Given the description of an element on the screen output the (x, y) to click on. 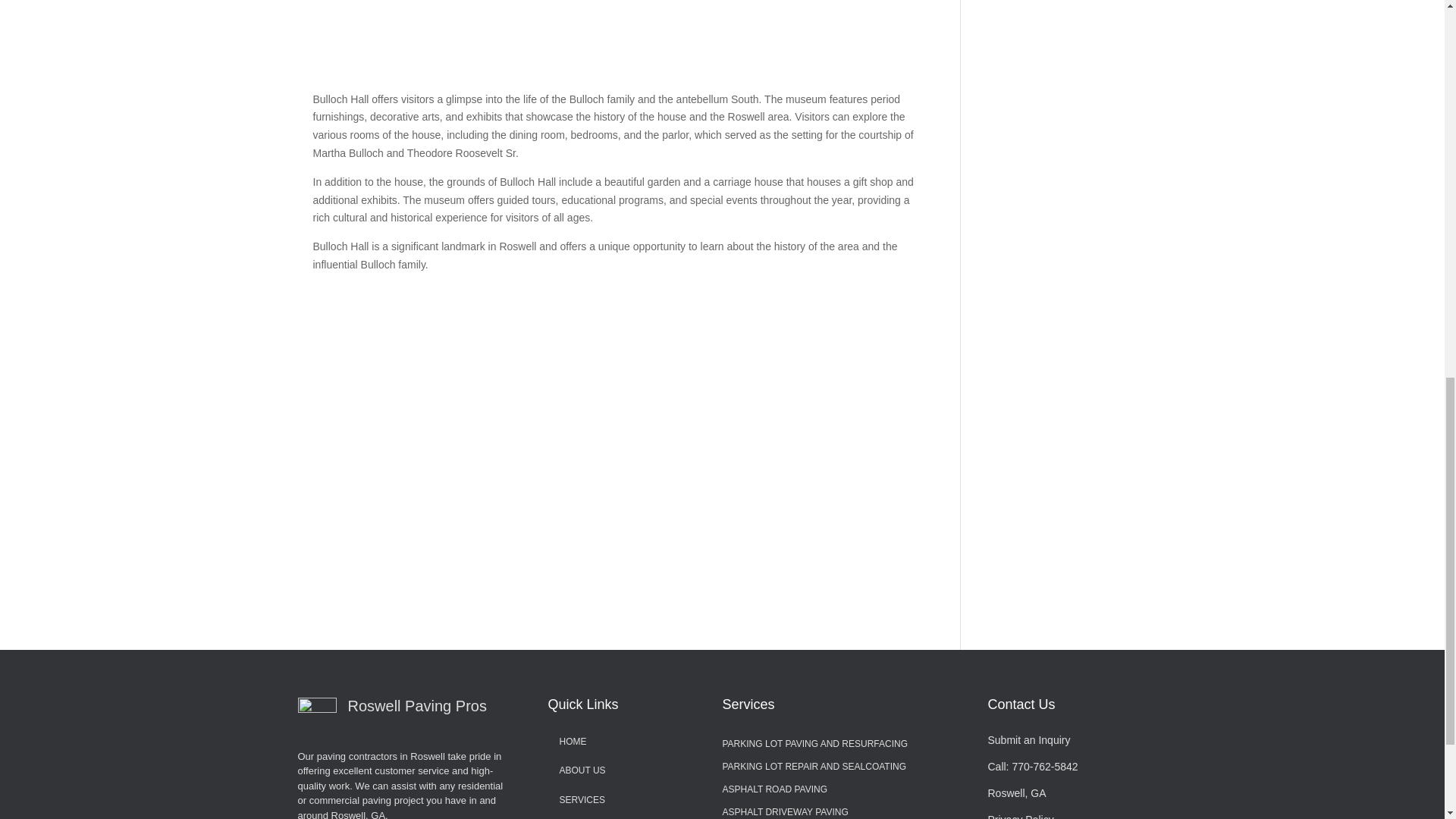
ABOUT US (582, 769)
Roswell, GA (1016, 793)
PARKING LOT PAVING AND RESURFACING (814, 746)
Call: 770-762-5842 (1032, 766)
SERVICES (582, 799)
PARKING LOT REPAIR AND SEALCOATING (813, 769)
ASPHALT ROAD PAVING (774, 791)
Privacy Policy (1019, 816)
ASPHALT DRIVEWAY PAVING (784, 812)
Submit an Inquiry (1028, 739)
HOME (572, 741)
